Given the description of an element on the screen output the (x, y) to click on. 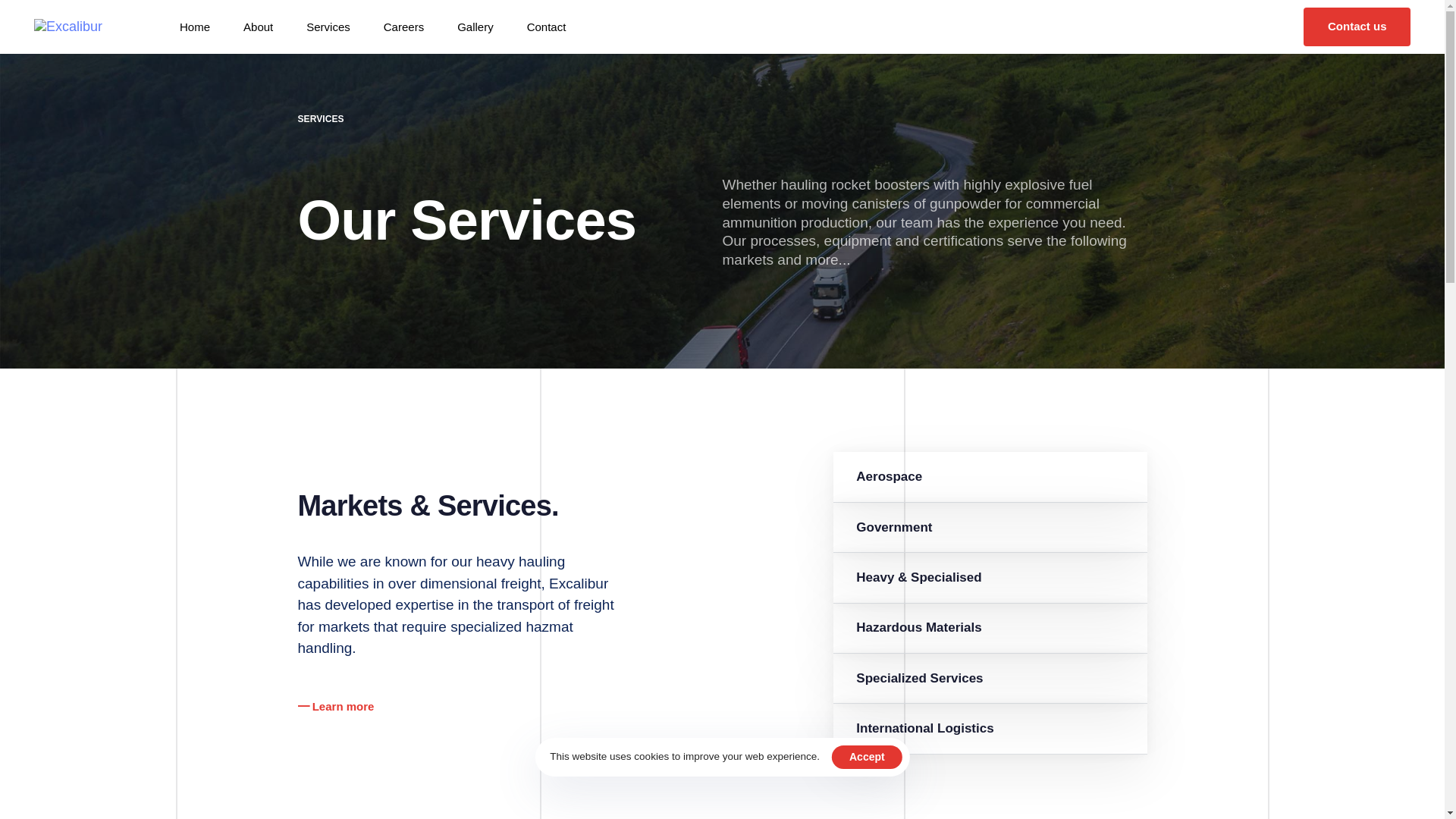
Gallery (476, 27)
About (258, 27)
Services (327, 27)
Contact (547, 27)
Aerospace (1356, 26)
Home (989, 477)
Careers (195, 27)
